Given the description of an element on the screen output the (x, y) to click on. 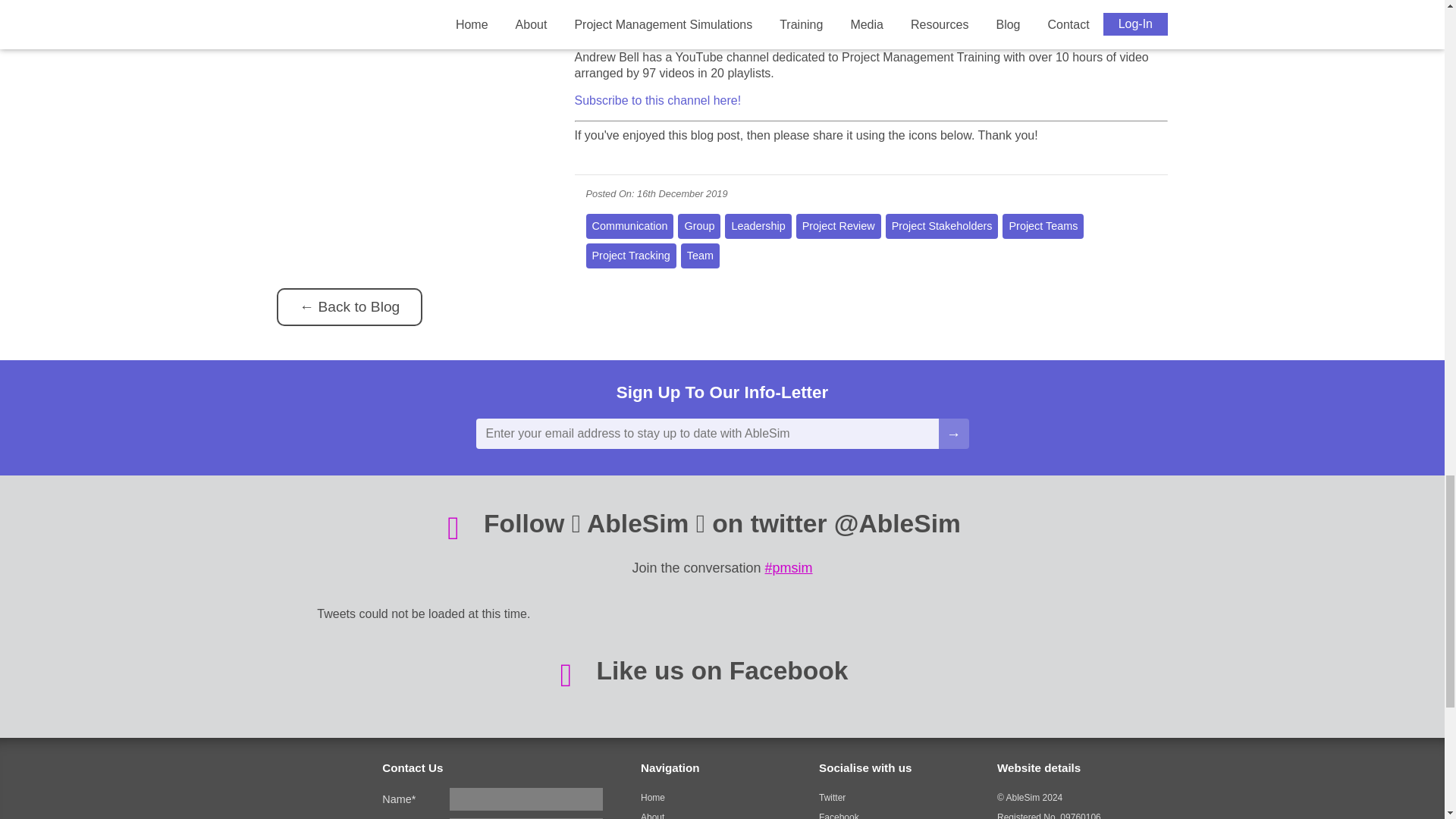
Communication (635, 226)
Subscribe to this channel here! (658, 1)
Group (705, 226)
Subscribe to this channel here! (658, 100)
